Given the description of an element on the screen output the (x, y) to click on. 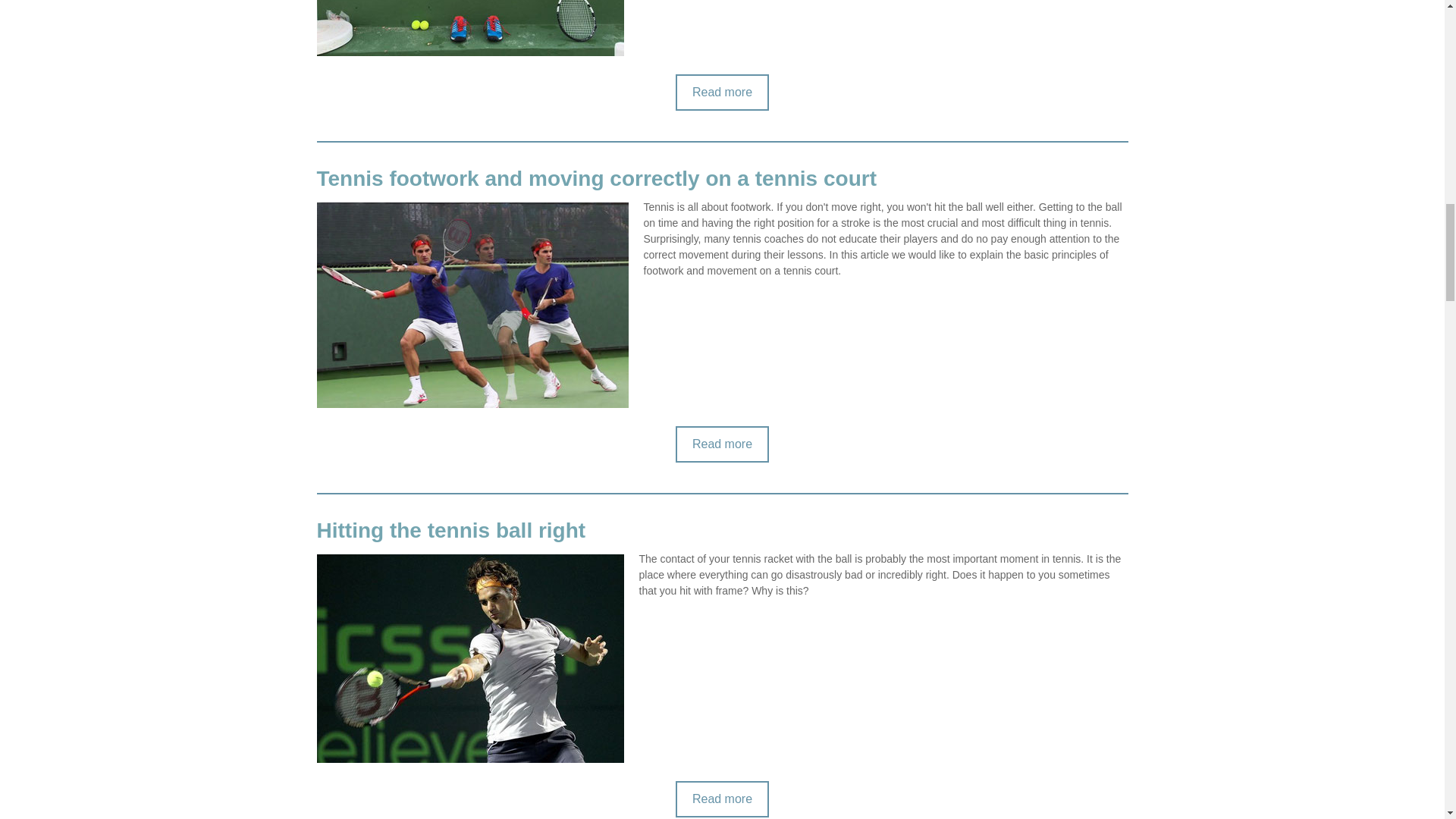
Read more (721, 443)
Read more (721, 92)
Read more (721, 799)
